Given the description of an element on the screen output the (x, y) to click on. 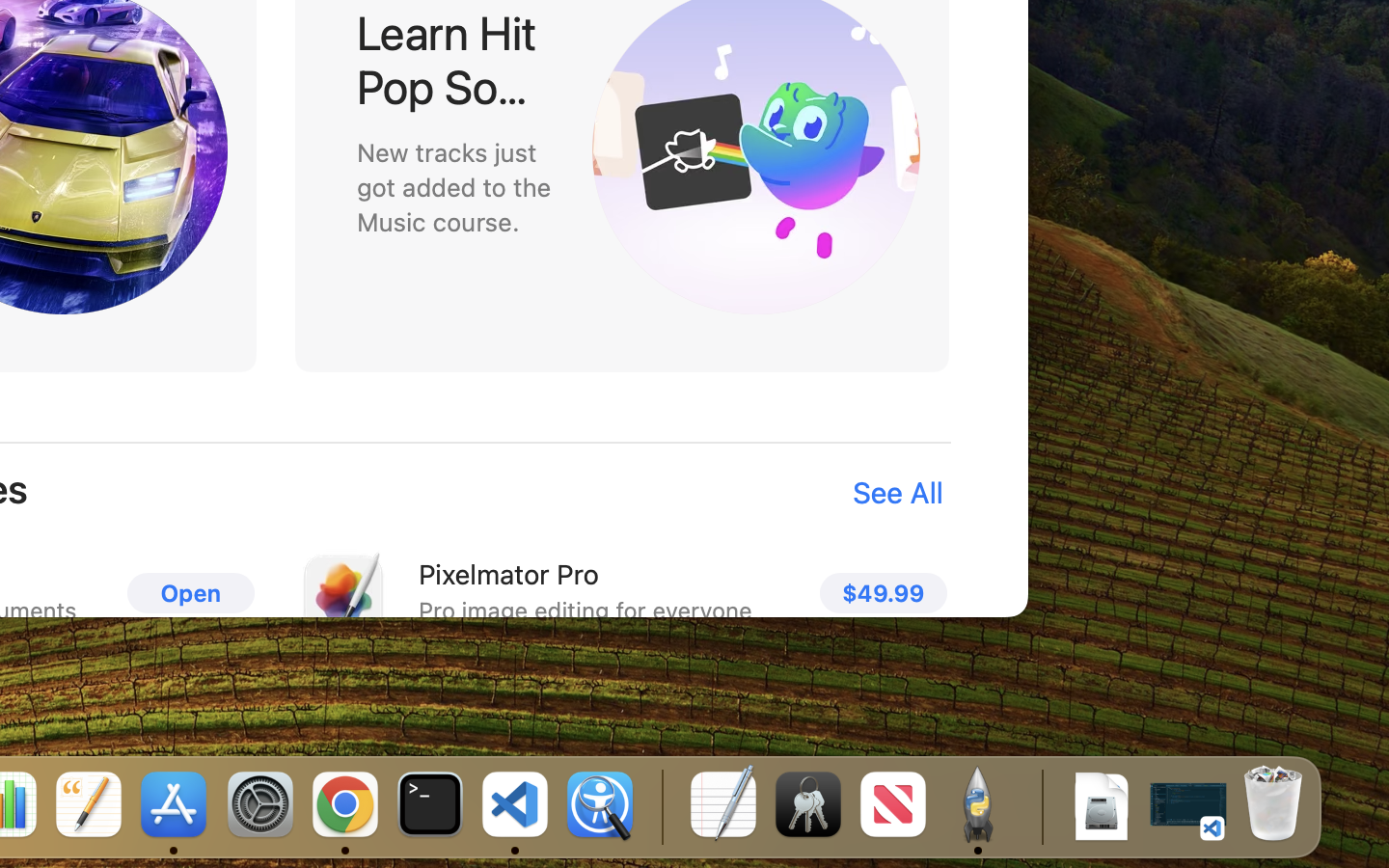
0.4285714328289032 Element type: AXDockItem (660, 805)
Learn Hit Pop Songs With Duolingo Element type: AXStaticText (452, 59)
